Given the description of an element on the screen output the (x, y) to click on. 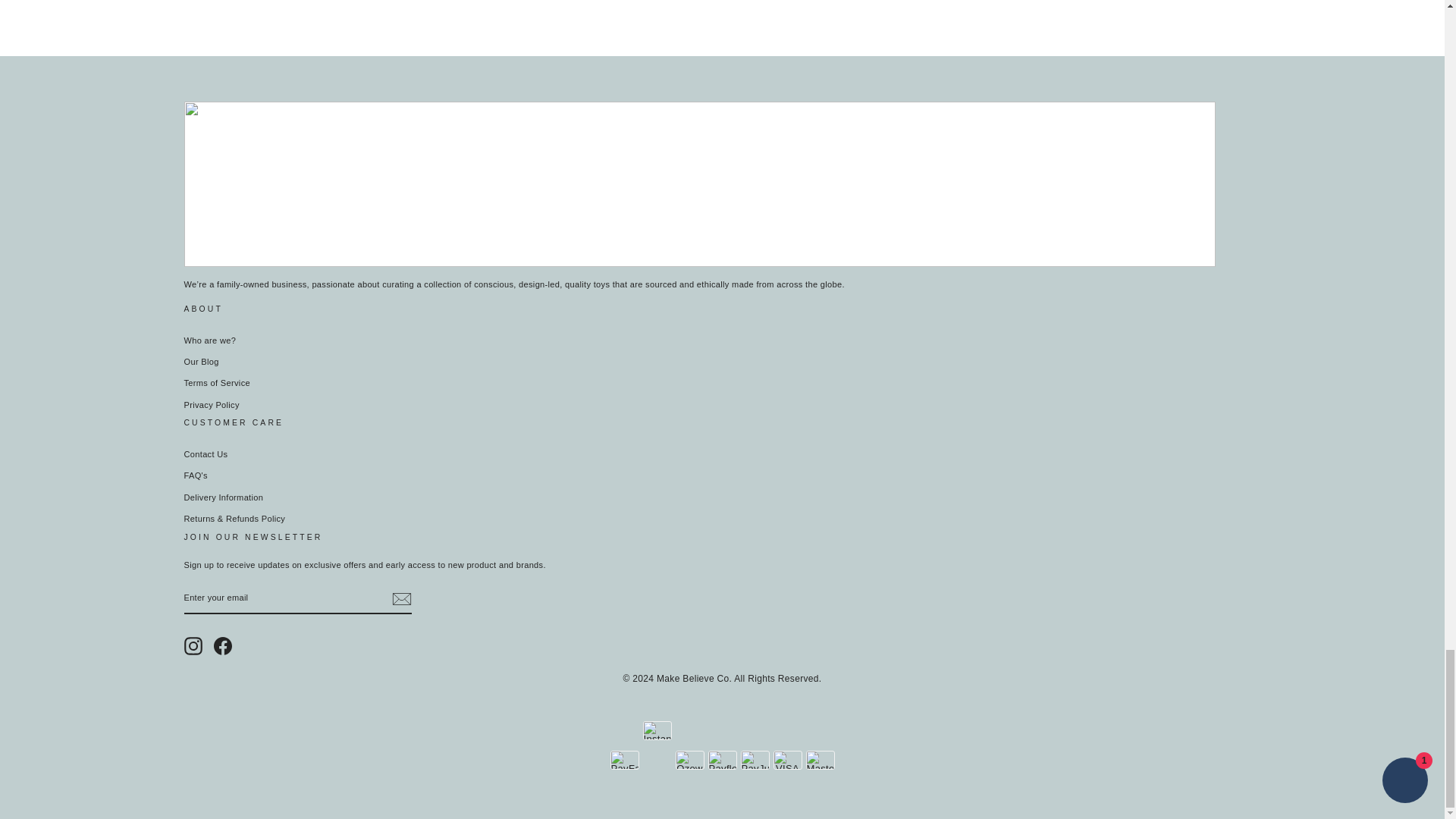
Make Believe Co. on Instagram (192, 646)
Make Believe Co. on Facebook (222, 646)
